Given the description of an element on the screen output the (x, y) to click on. 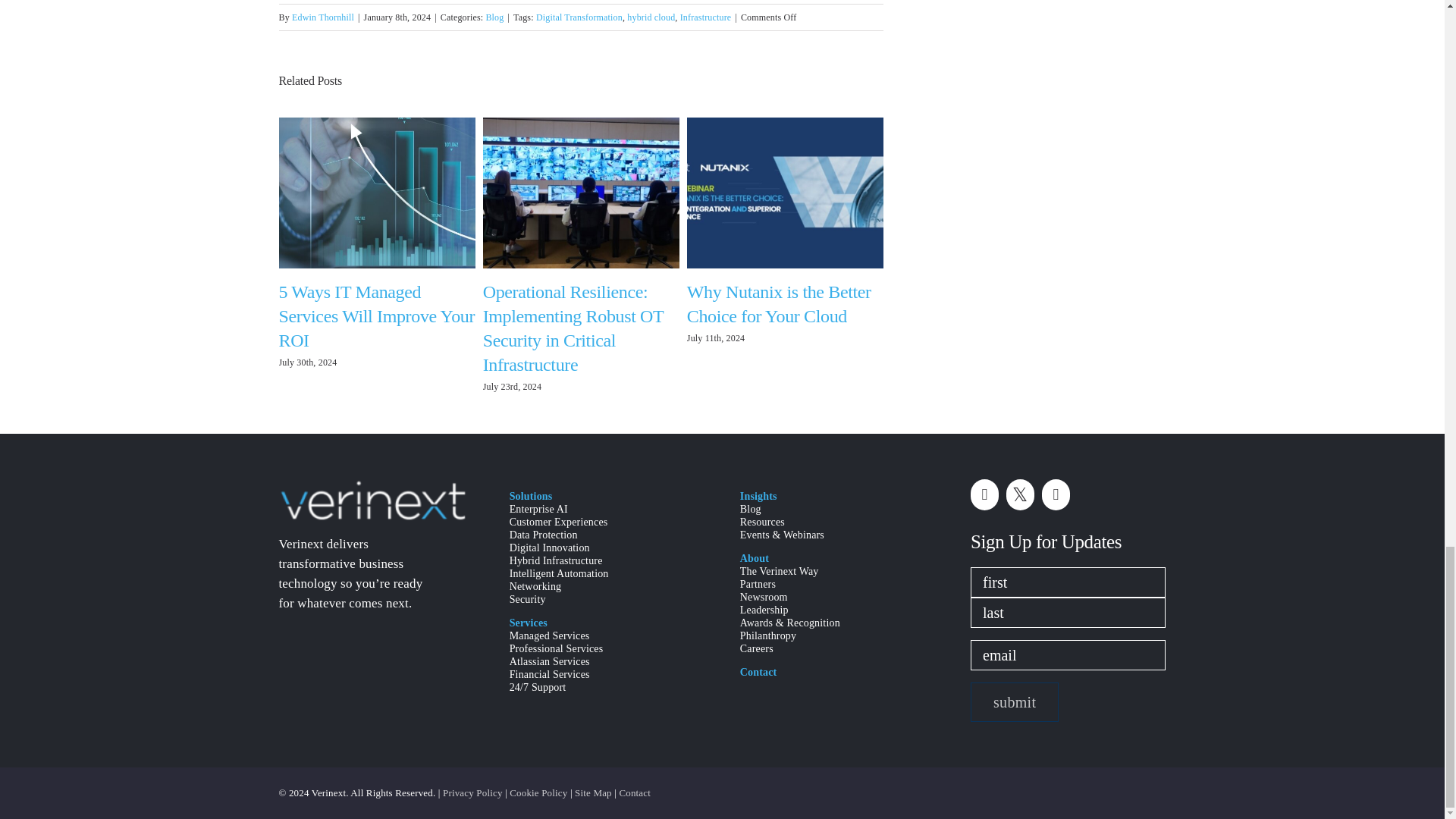
logo (372, 500)
5 Ways IT Managed Services Will Improve Your ROI (377, 315)
X (1019, 494)
LinkedIn (984, 494)
Posts by Edwin Thornhill (322, 17)
Submit (1014, 701)
Why Nutanix is the Better Choice for Your Cloud (778, 303)
Instagram (1056, 494)
